Given the description of an element on the screen output the (x, y) to click on. 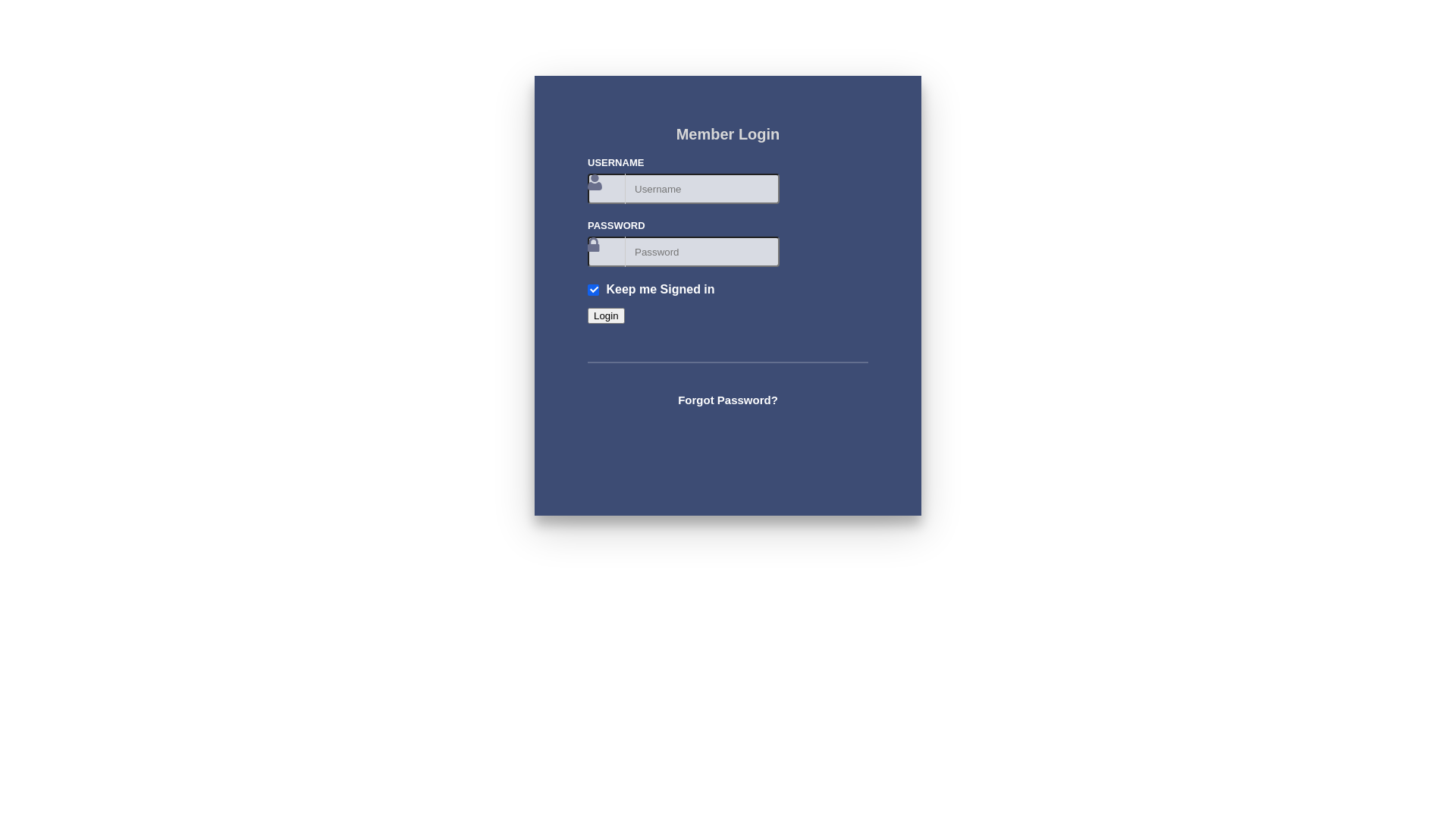
Forgot Password? Element type: text (727, 399)
Login Element type: text (605, 315)
